Given the description of an element on the screen output the (x, y) to click on. 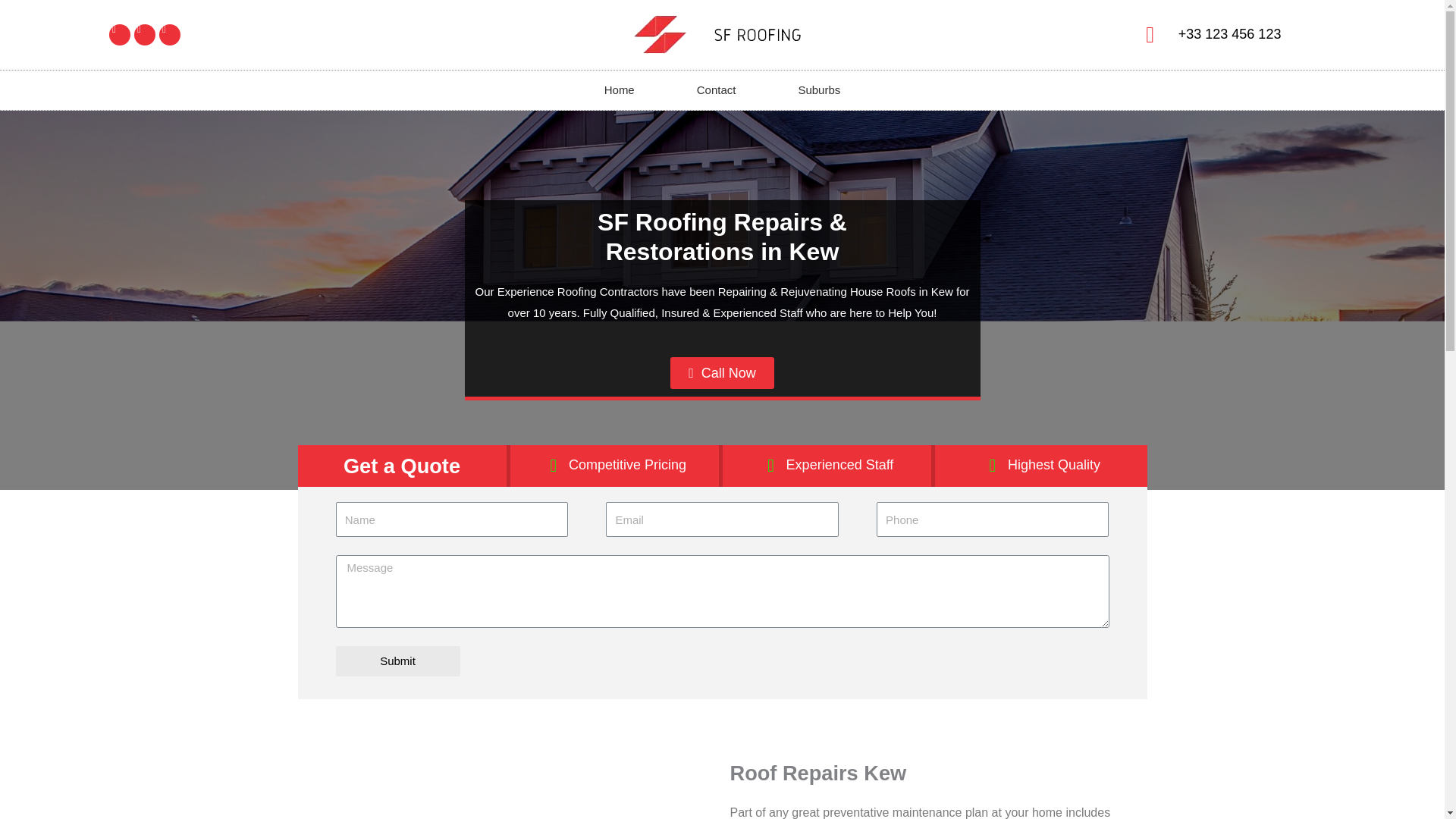
Contact (716, 89)
Suburbs (818, 89)
Kew, Victoria, Australia (509, 789)
Home (619, 89)
